Given the description of an element on the screen output the (x, y) to click on. 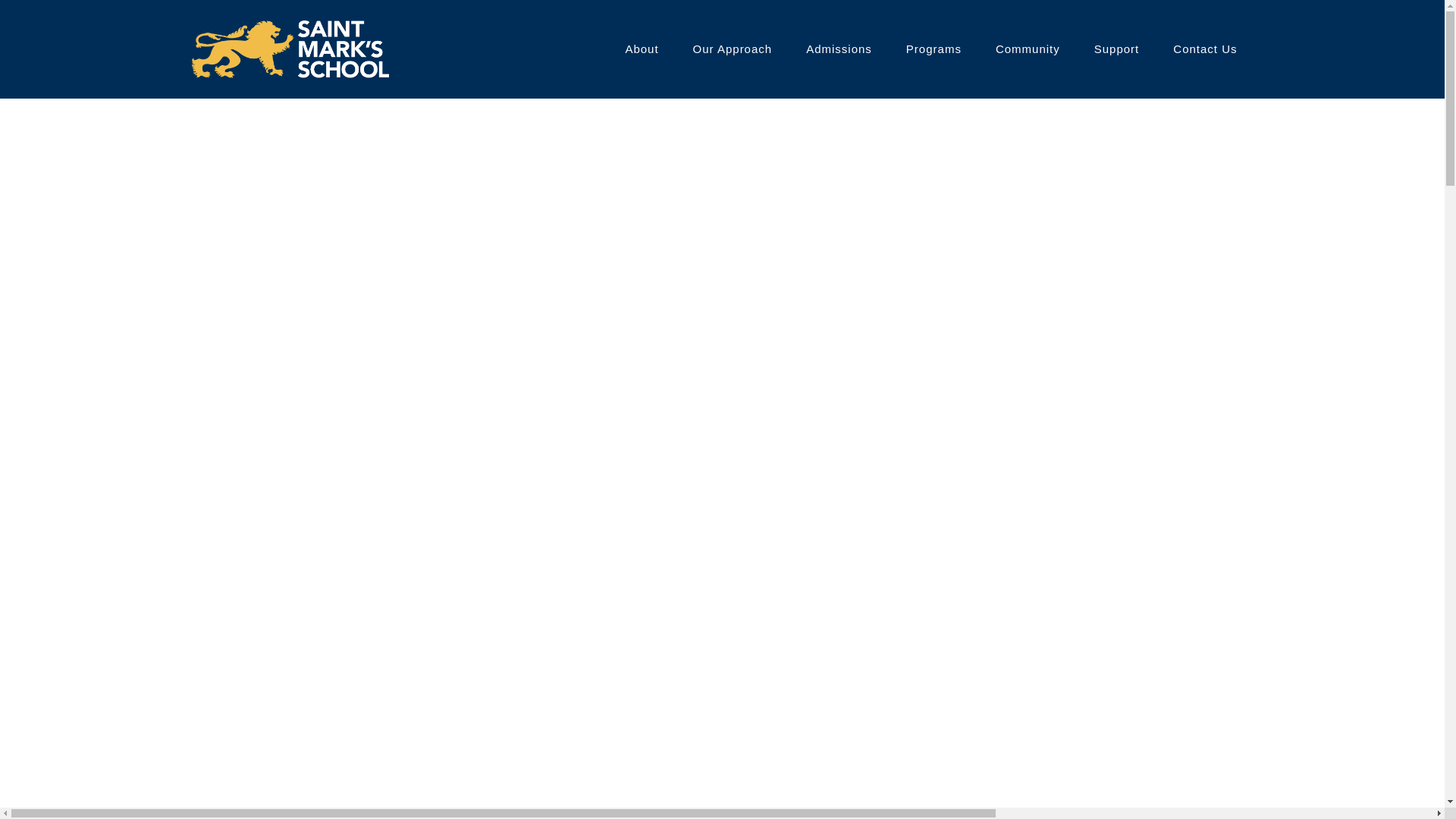
About (641, 49)
Community (1027, 49)
Admissions (838, 49)
Programs (933, 49)
Our Approach (732, 49)
Support (1116, 49)
